Given the description of an element on the screen output the (x, y) to click on. 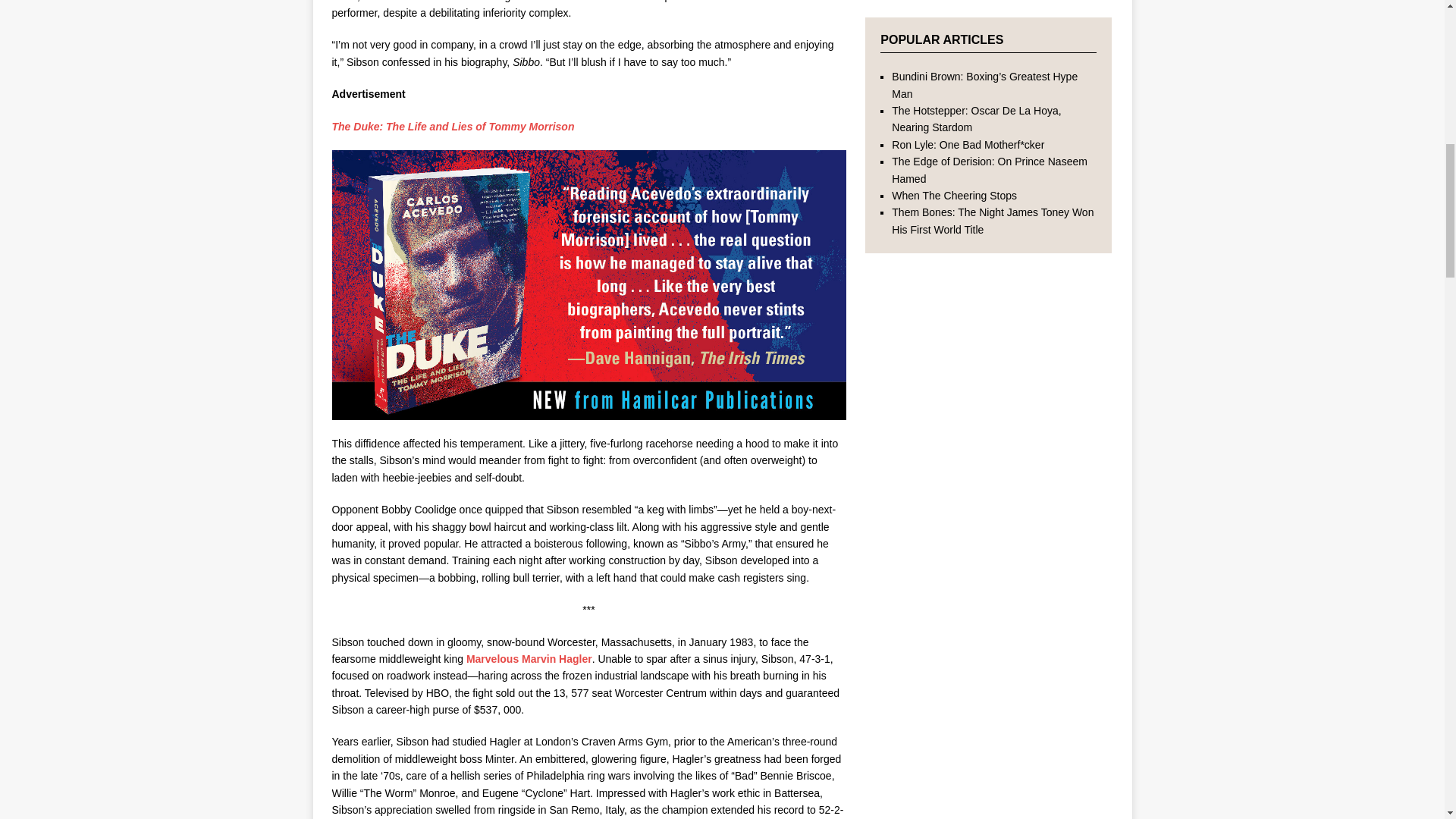
Marvelous Marvin Hagler (528, 658)
The Duke: The Life and Lies of Tommy Morrison (453, 126)
